Given the description of an element on the screen output the (x, y) to click on. 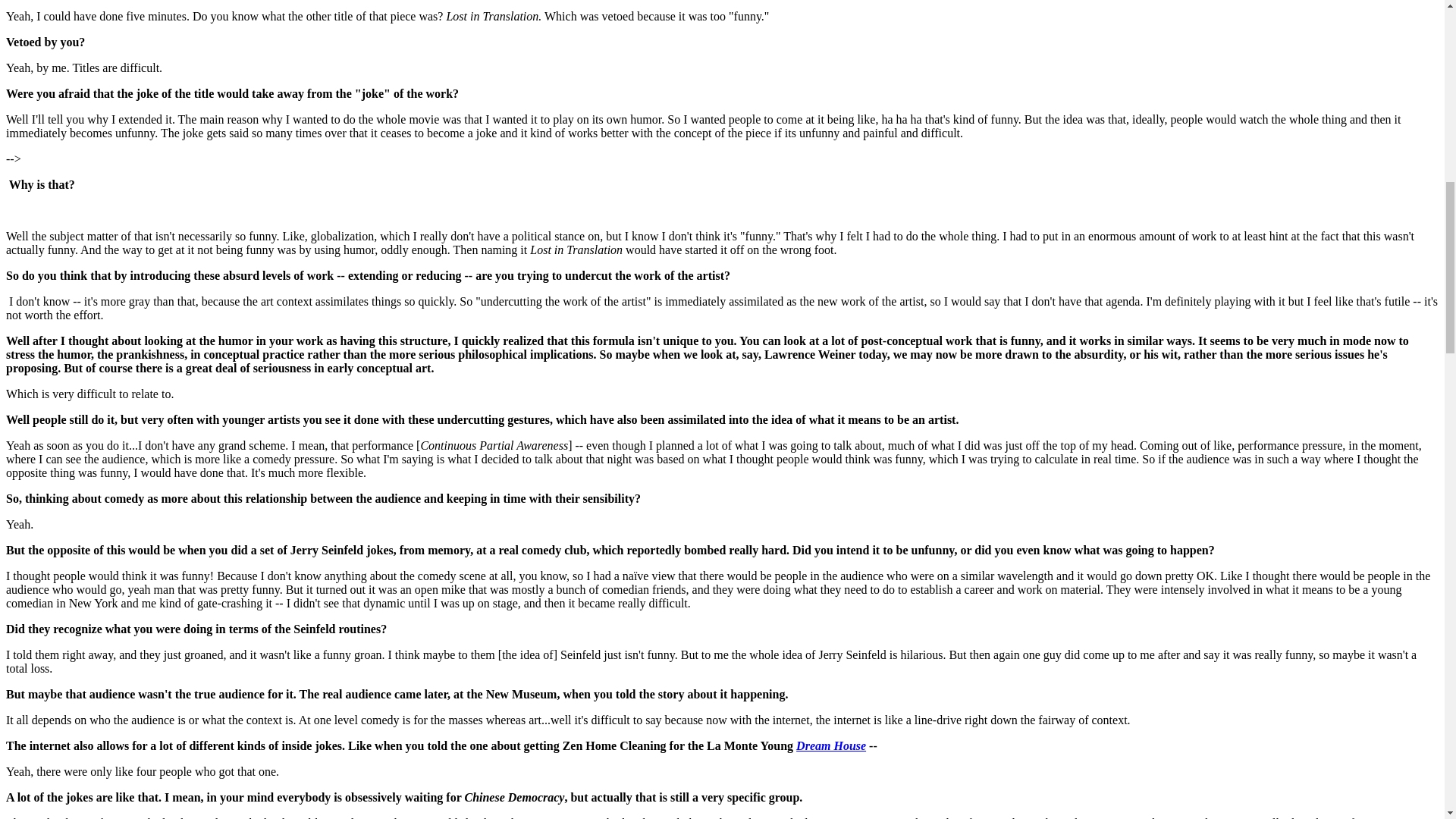
Dream House (831, 745)
